Given the description of an element on the screen output the (x, y) to click on. 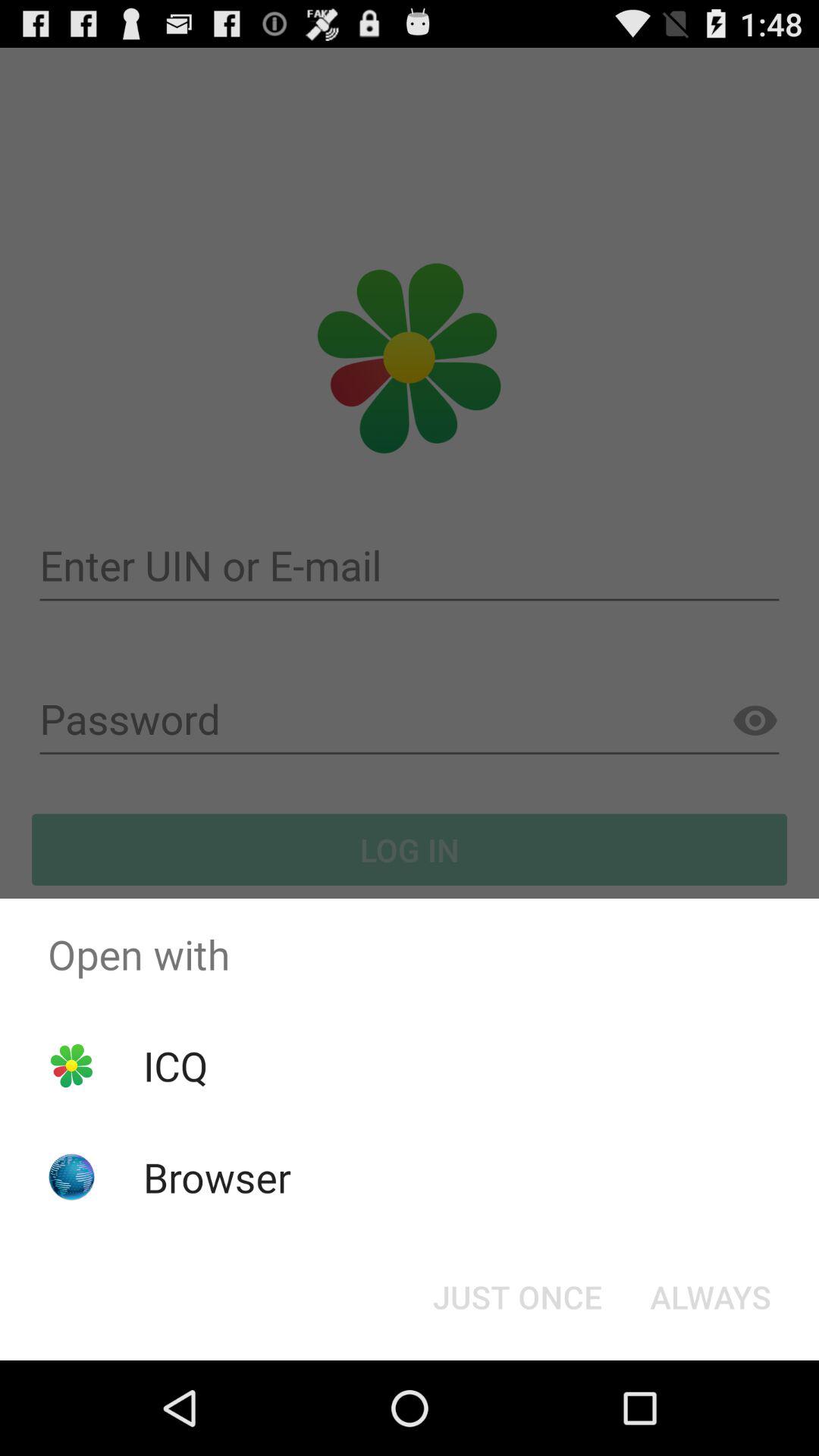
open the icon next to always (517, 1296)
